Given the description of an element on the screen output the (x, y) to click on. 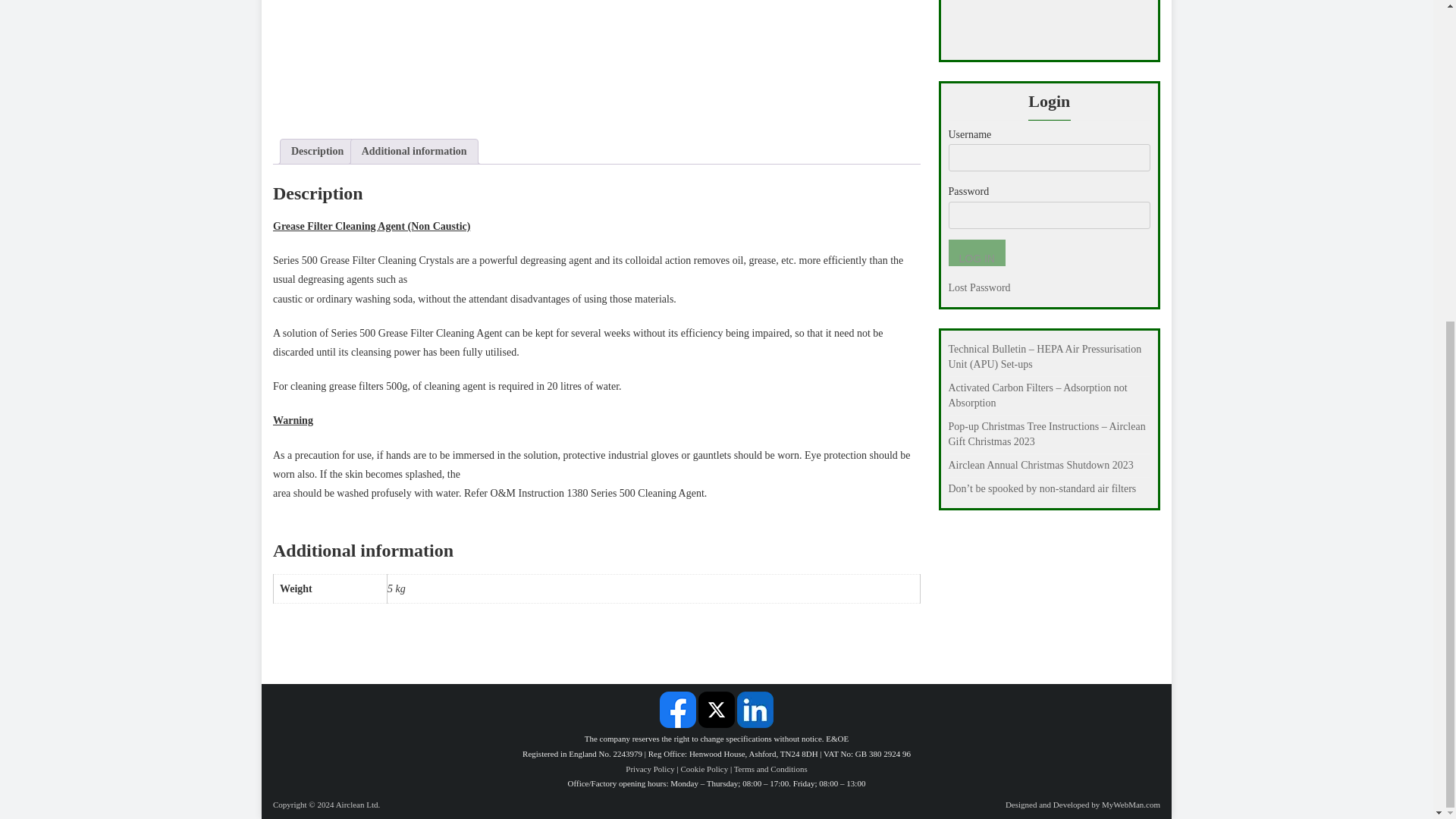
Log In (975, 252)
